Given the description of an element on the screen output the (x, y) to click on. 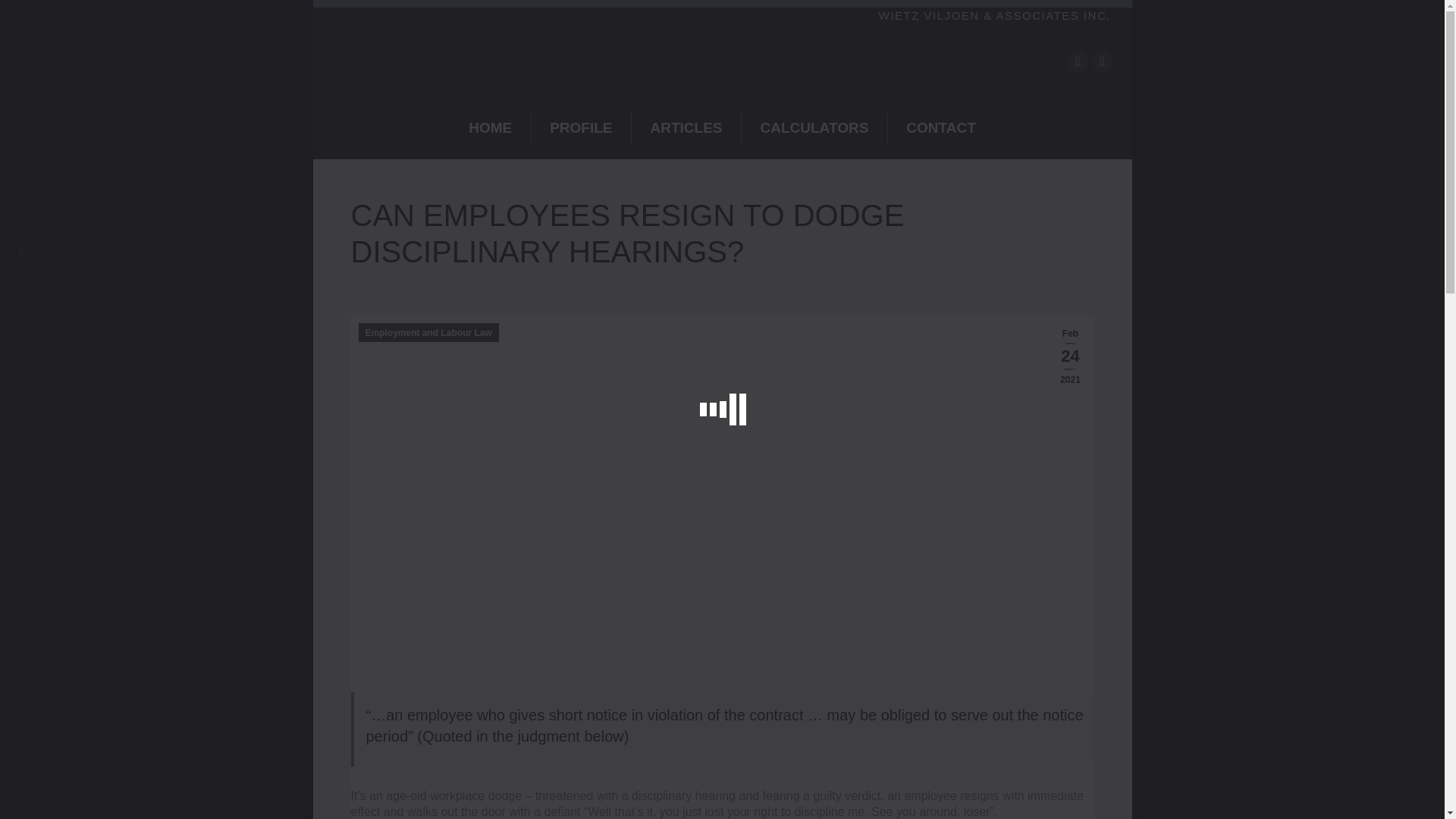
Facebook page opens in new window (1078, 60)
Facebook page opens in new window (1078, 60)
Linkedin page opens in new window (1102, 60)
PROFILE (580, 127)
Employment and Labour Law (427, 332)
HOME (489, 127)
ARTICLES (686, 127)
CONTACT (940, 127)
CALCULATORS (814, 127)
Linkedin page opens in new window (1102, 60)
